Given the description of an element on the screen output the (x, y) to click on. 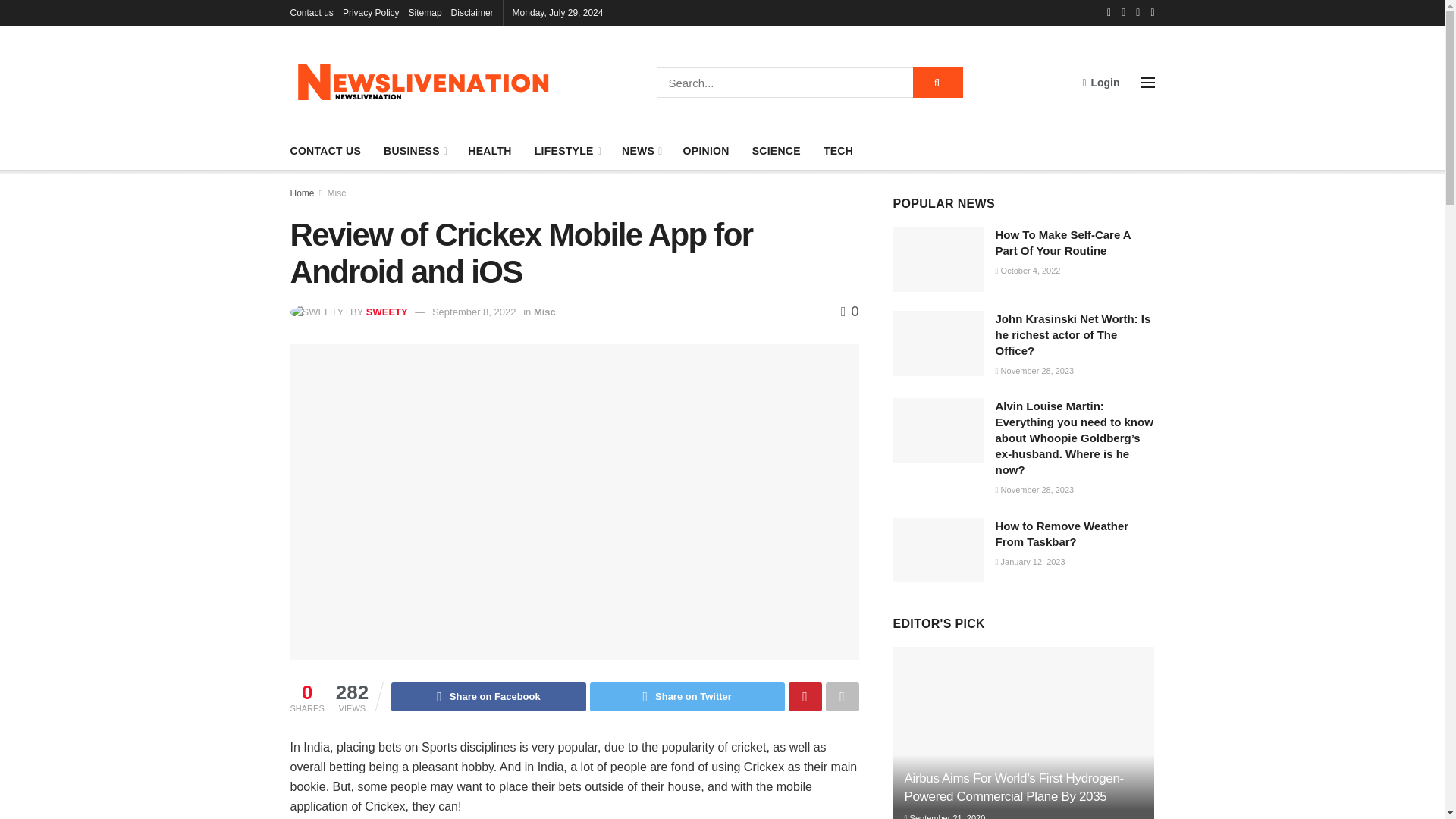
LIFESTYLE (566, 150)
Privacy Policy (370, 12)
CONTACT US (325, 150)
HEALTH (489, 150)
Disclaimer (472, 12)
BUSINESS (414, 150)
Sitemap (425, 12)
NEWS (641, 150)
Login (1100, 82)
Contact us (311, 12)
